Given the description of an element on the screen output the (x, y) to click on. 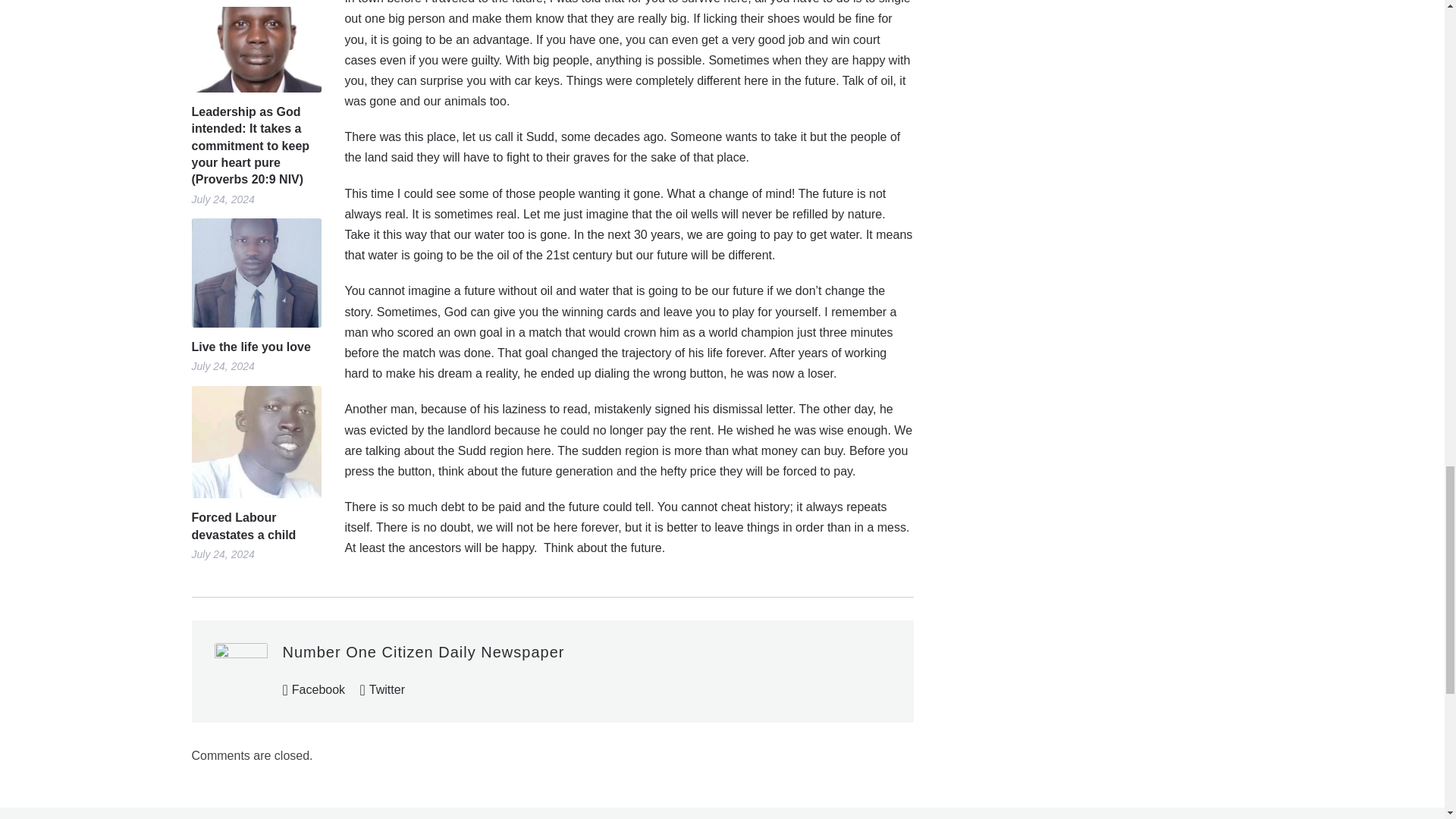
Permalink to Live the life you love (255, 272)
Permalink to Live the life you love (255, 347)
